Given the description of an element on the screen output the (x, y) to click on. 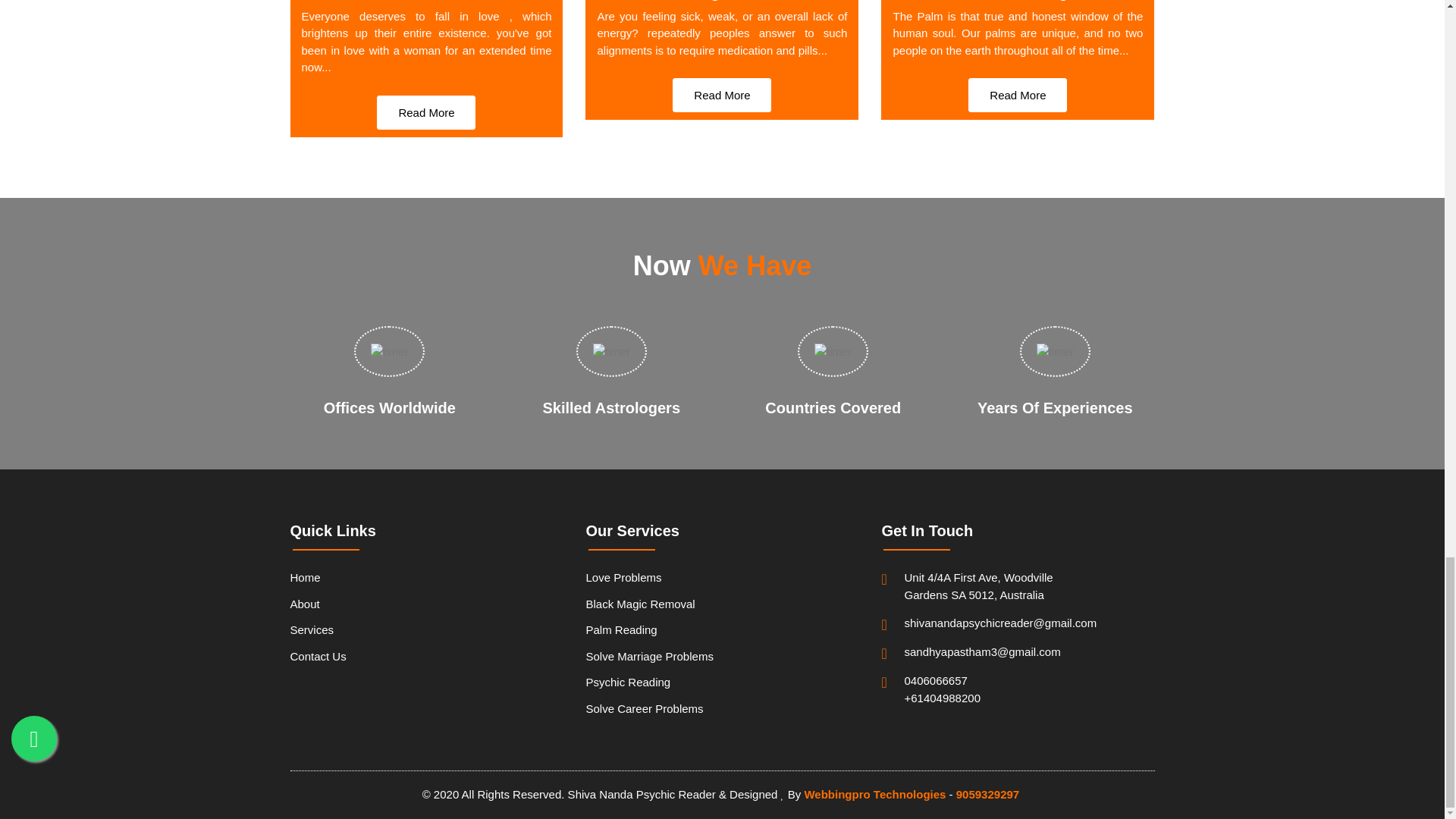
Love Problems (722, 580)
Contact Us (425, 654)
Palm Reading (722, 631)
Psychic Reading (722, 683)
Read More (426, 112)
Read More (1017, 94)
About (425, 605)
Solve Marriage Problems (722, 657)
Home (425, 580)
Solve Career Problems (722, 707)
Services (425, 631)
Black Magic Removal (722, 605)
Read More (721, 94)
0406066657 (952, 681)
